Given the description of an element on the screen output the (x, y) to click on. 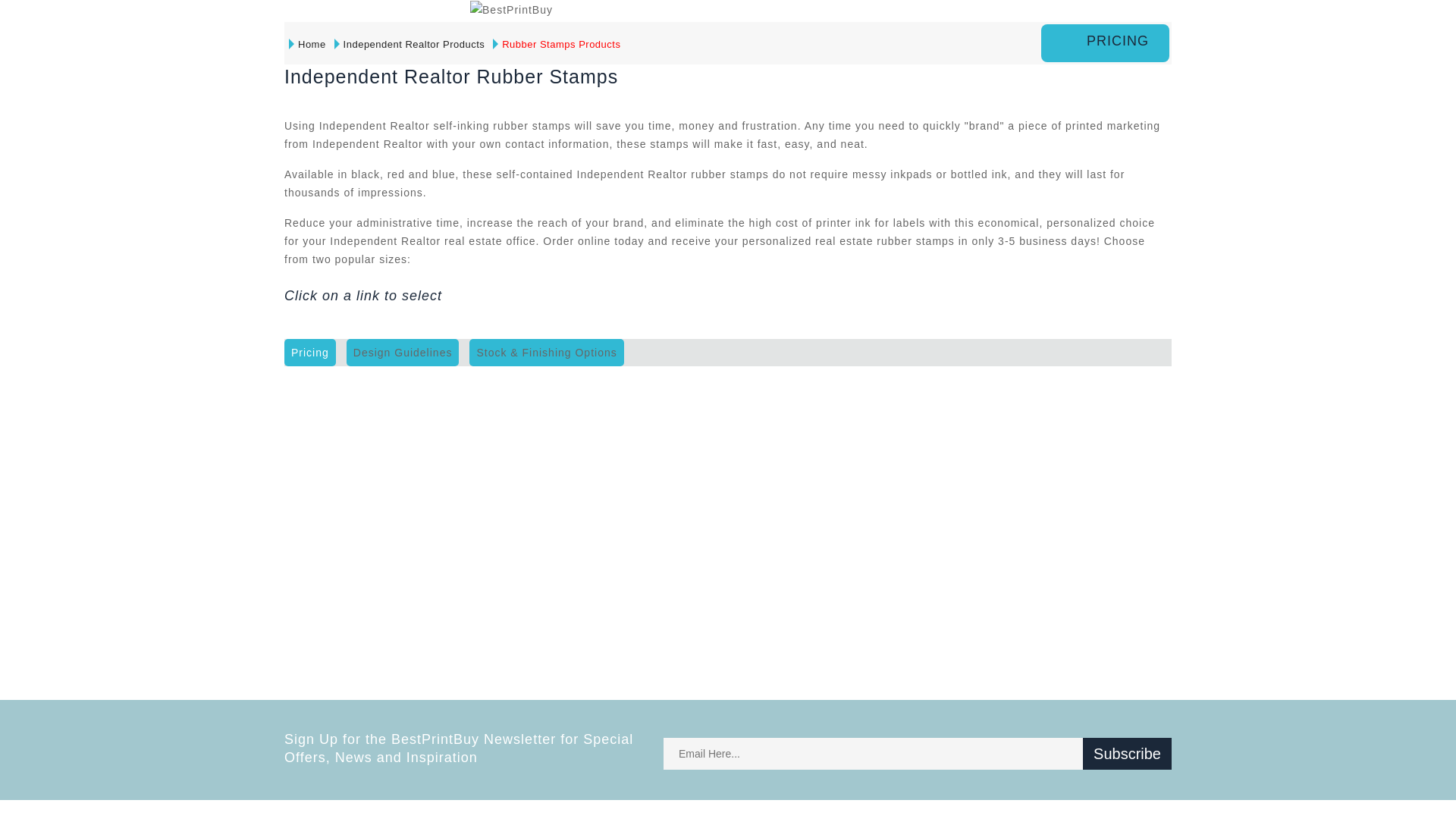
Rubber Stamps Products (556, 44)
Finishing (545, 352)
Design Guidelines (403, 352)
ProductTags (403, 352)
Pricing (309, 352)
Independent Realtor Products (409, 44)
Home (307, 44)
Subscribe (1127, 753)
Subscribe (1127, 753)
Stamps Pricing (1104, 43)
